Given the description of an element on the screen output the (x, y) to click on. 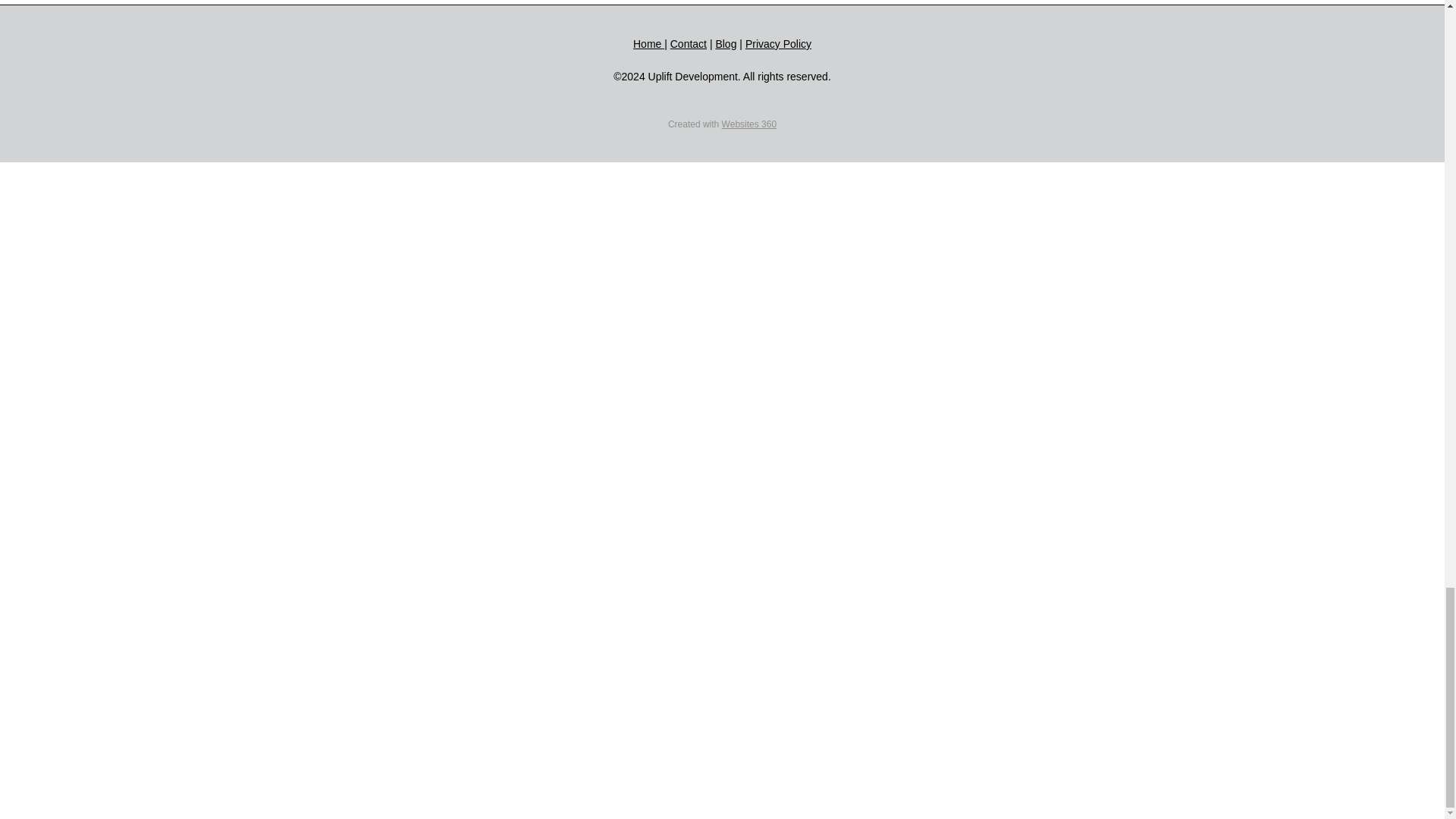
Created with Websites 360 (722, 123)
Blog (725, 43)
Contact (687, 43)
Home (648, 43)
Privacy Policy (777, 43)
